Given the description of an element on the screen output the (x, y) to click on. 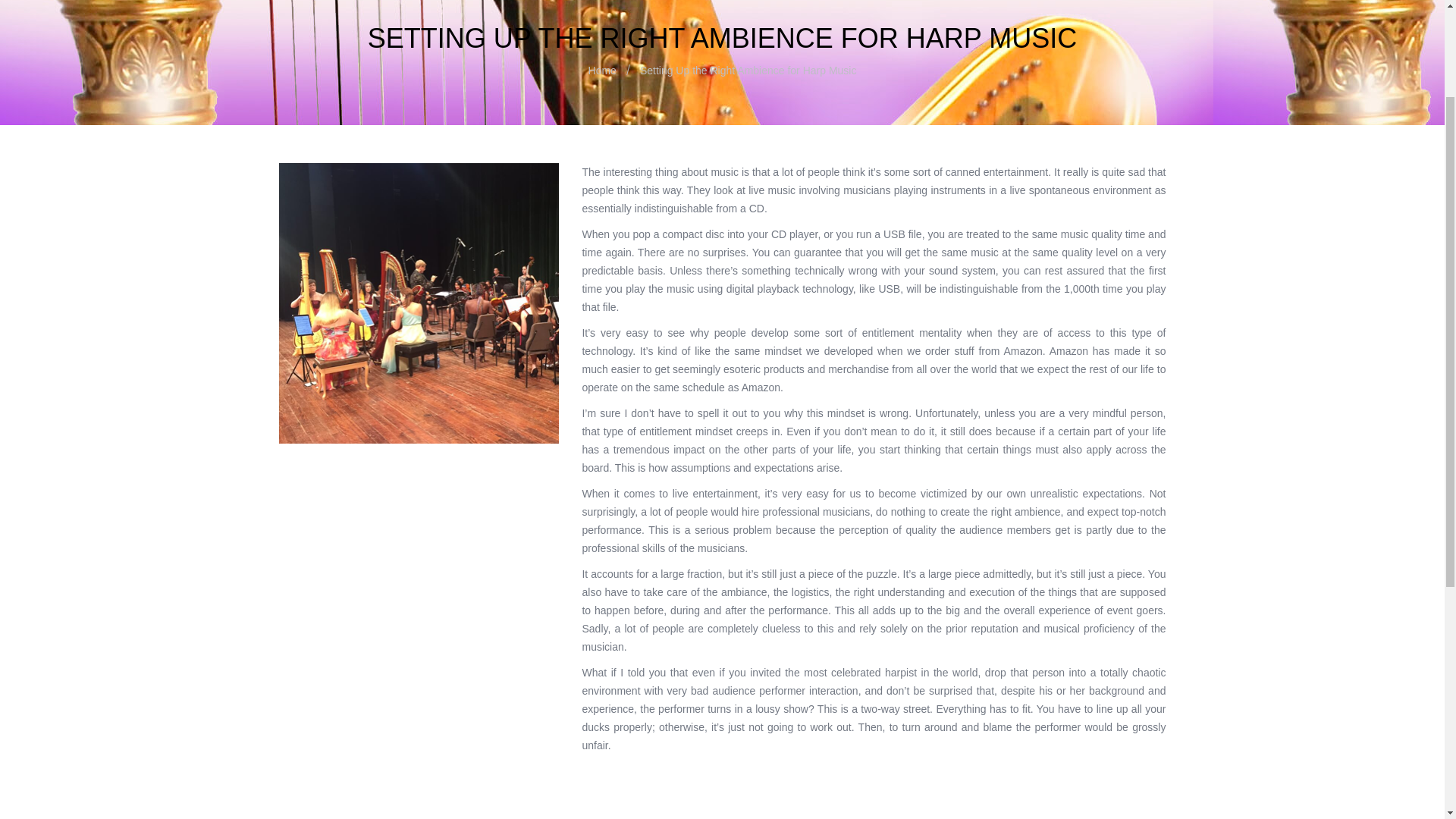
Subscribe (721, 599)
Contact Us (407, 483)
Home (395, 319)
About Chicago Harpist (434, 337)
Home (601, 70)
How to Find the Right Harpist (451, 465)
Subscribe (721, 599)
image3 (419, 302)
Articles (398, 356)
Setting Up the Right Ambience for Harp Music (474, 438)
Blog (392, 501)
Achieving Peace with Relaxing Harp Music (482, 374)
